Given the description of an element on the screen output the (x, y) to click on. 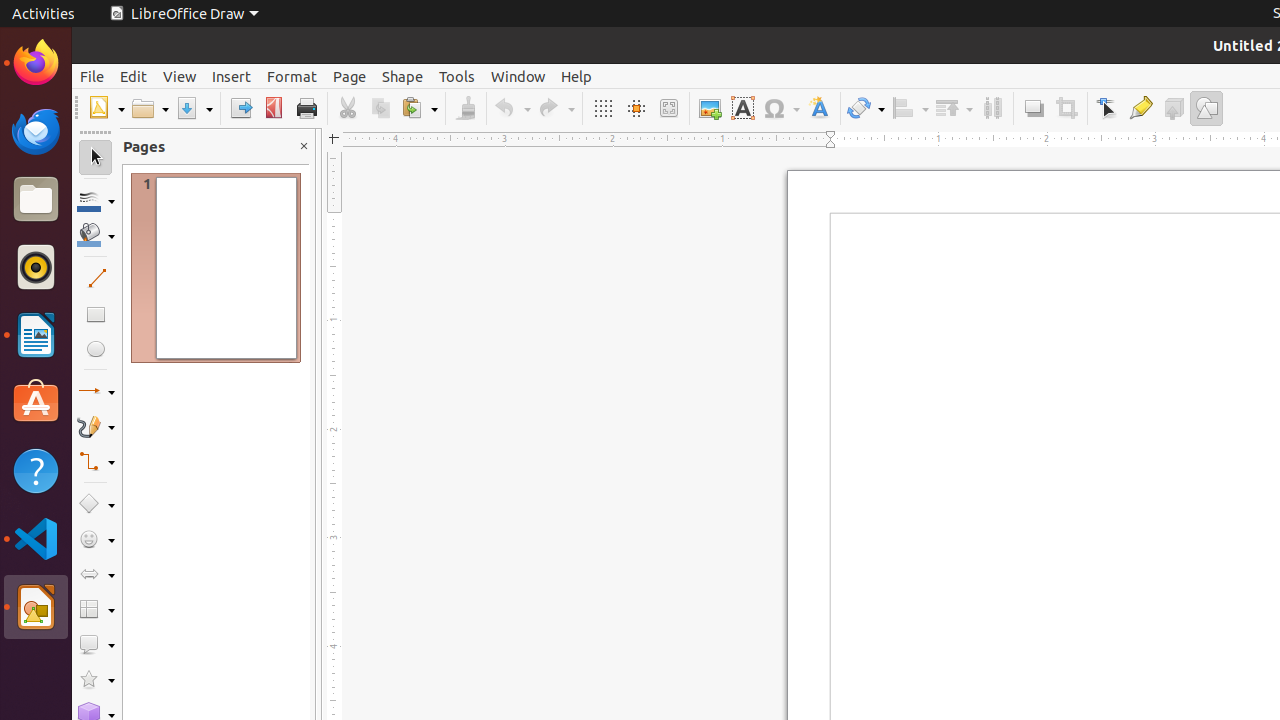
Flowchart Shapes Element type: push-button (96, 609)
Export Element type: push-button (240, 108)
Edit Points Element type: push-button (1107, 108)
Save Element type: push-button (194, 108)
